Given the description of an element on the screen output the (x, y) to click on. 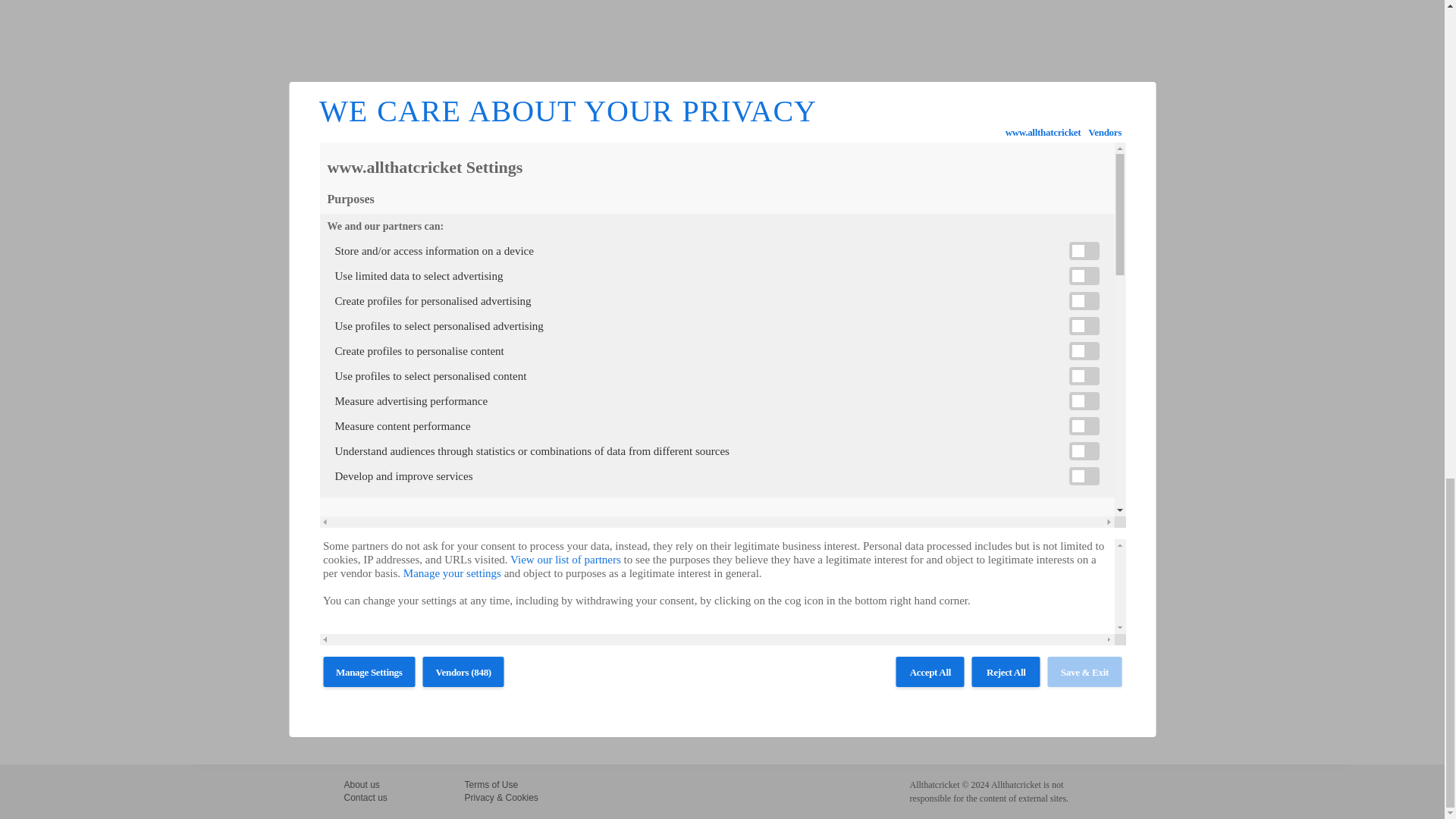
Twitter (374, 247)
Contact us (365, 797)
Leave your comment (386, 294)
About us (361, 784)
Facebook (356, 247)
Facebook (356, 247)
Terms of Use (491, 784)
WhatsApp (410, 247)
Post Comment (388, 715)
Post Comment (388, 715)
